Given the description of an element on the screen output the (x, y) to click on. 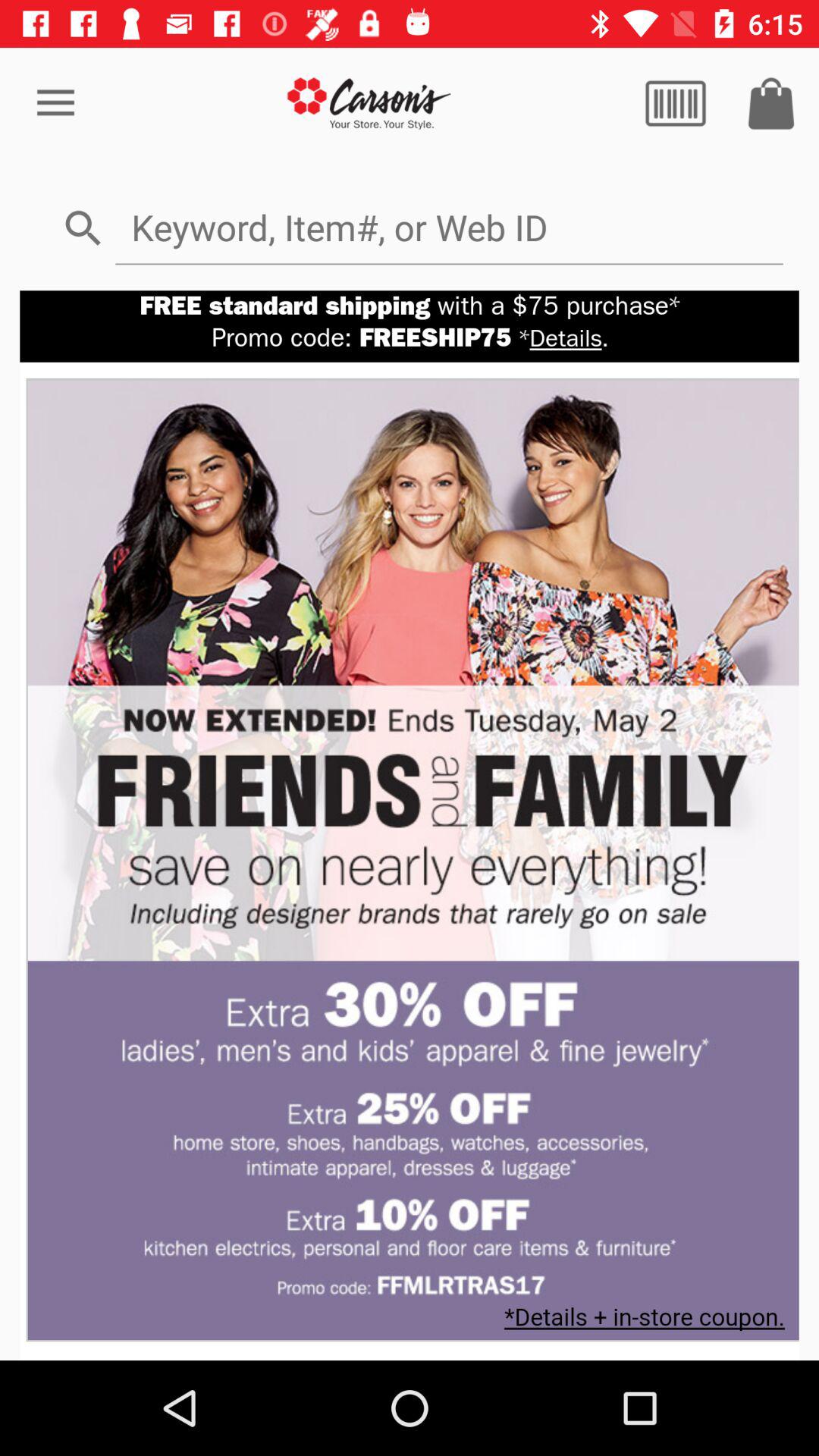
go to search (449, 227)
